Given the description of an element on the screen output the (x, y) to click on. 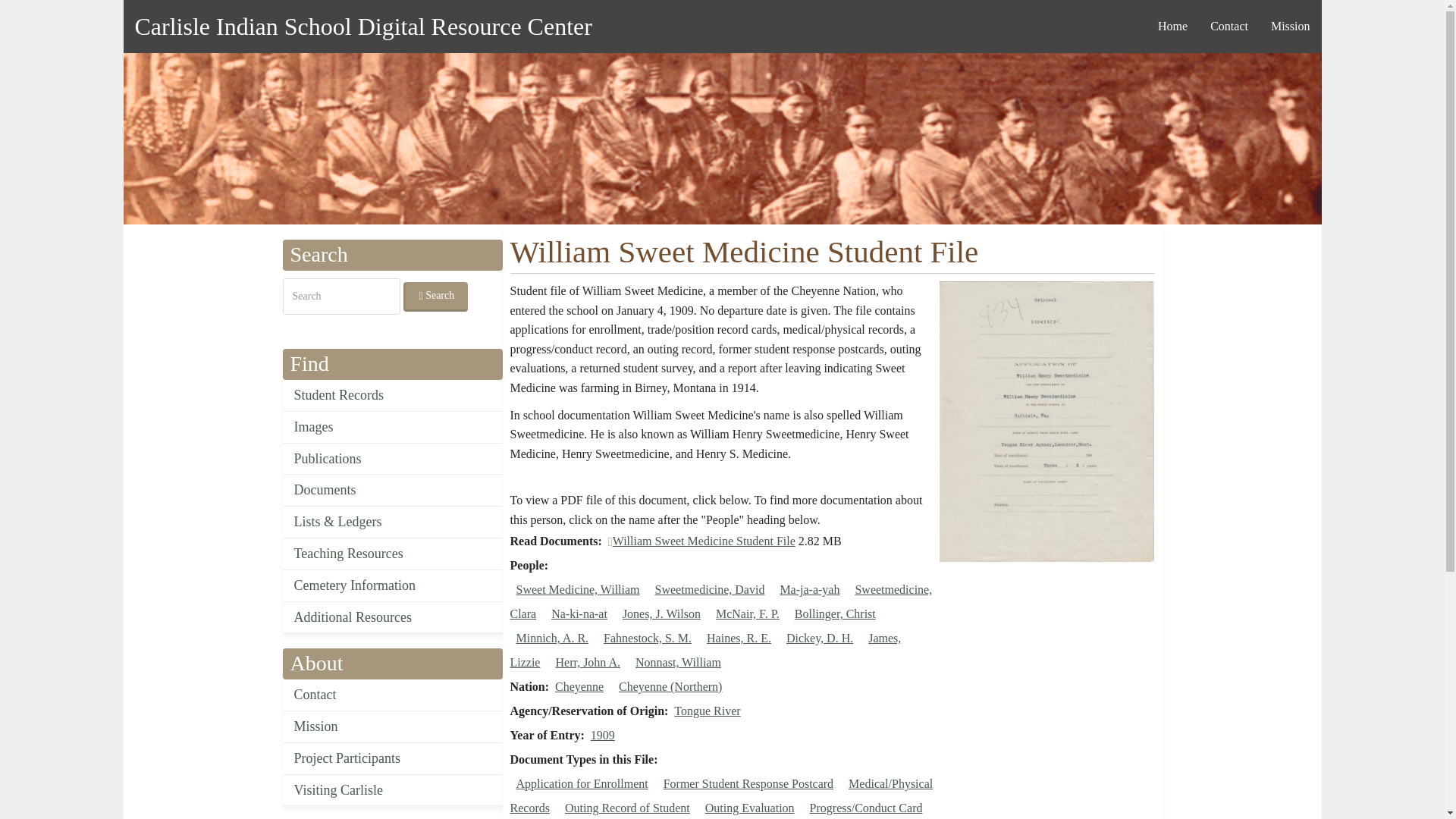
Contact (392, 695)
Mission (392, 726)
Jones, J. Wilson (661, 613)
Sweetmedicine, Clara (720, 601)
Contact (1228, 25)
Search (435, 296)
Cheyenne (579, 686)
Herr, John A. (587, 662)
Images (392, 427)
McNair, F. P. (747, 613)
Teaching Resources (392, 554)
Tongue River (706, 710)
Sweetmedicine, David (710, 589)
Dickey, D. H. (819, 637)
Minnich, A. R. (551, 637)
